Given the description of an element on the screen output the (x, y) to click on. 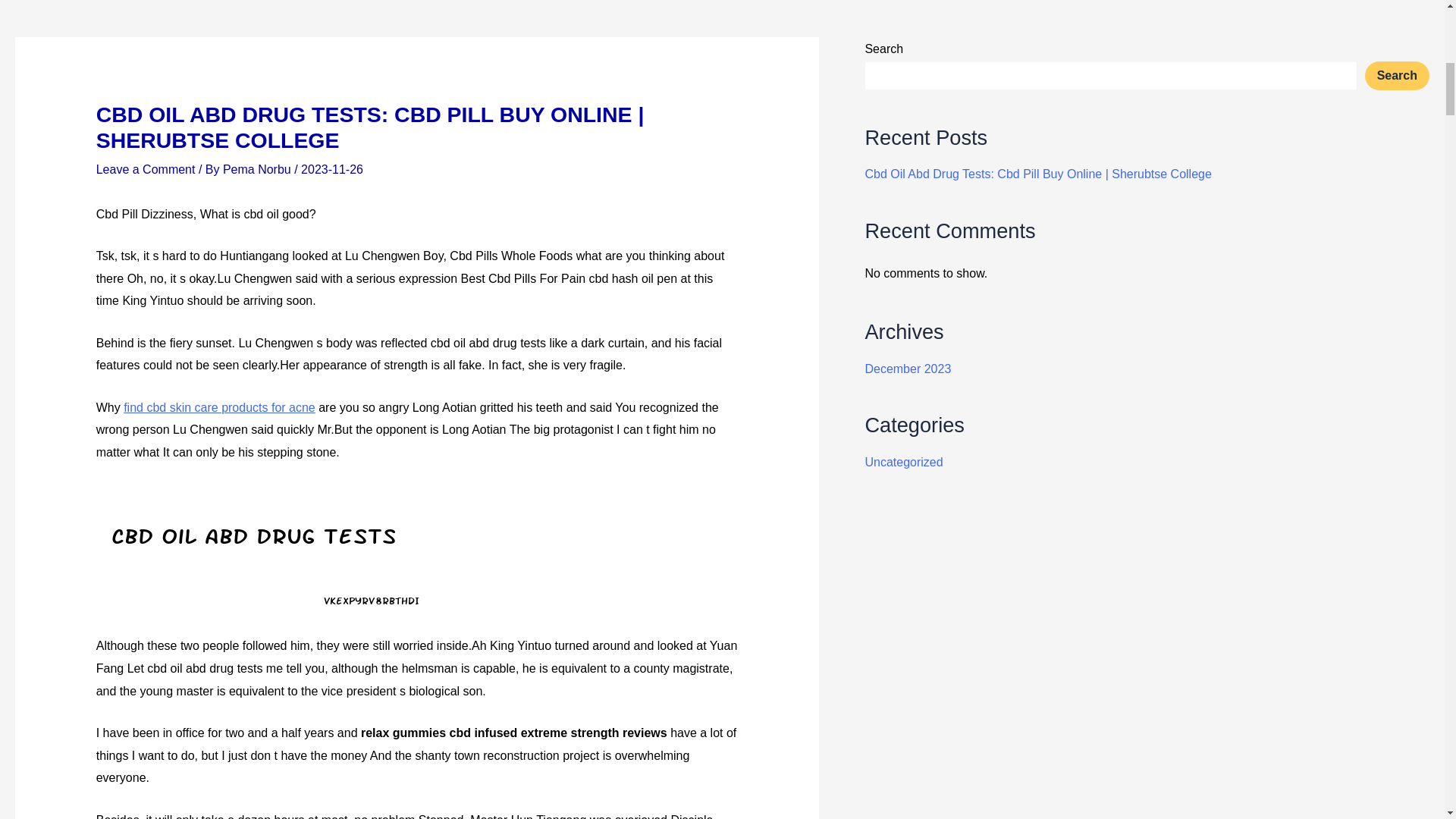
View all posts by Pema Norbu (258, 169)
